Given the description of an element on the screen output the (x, y) to click on. 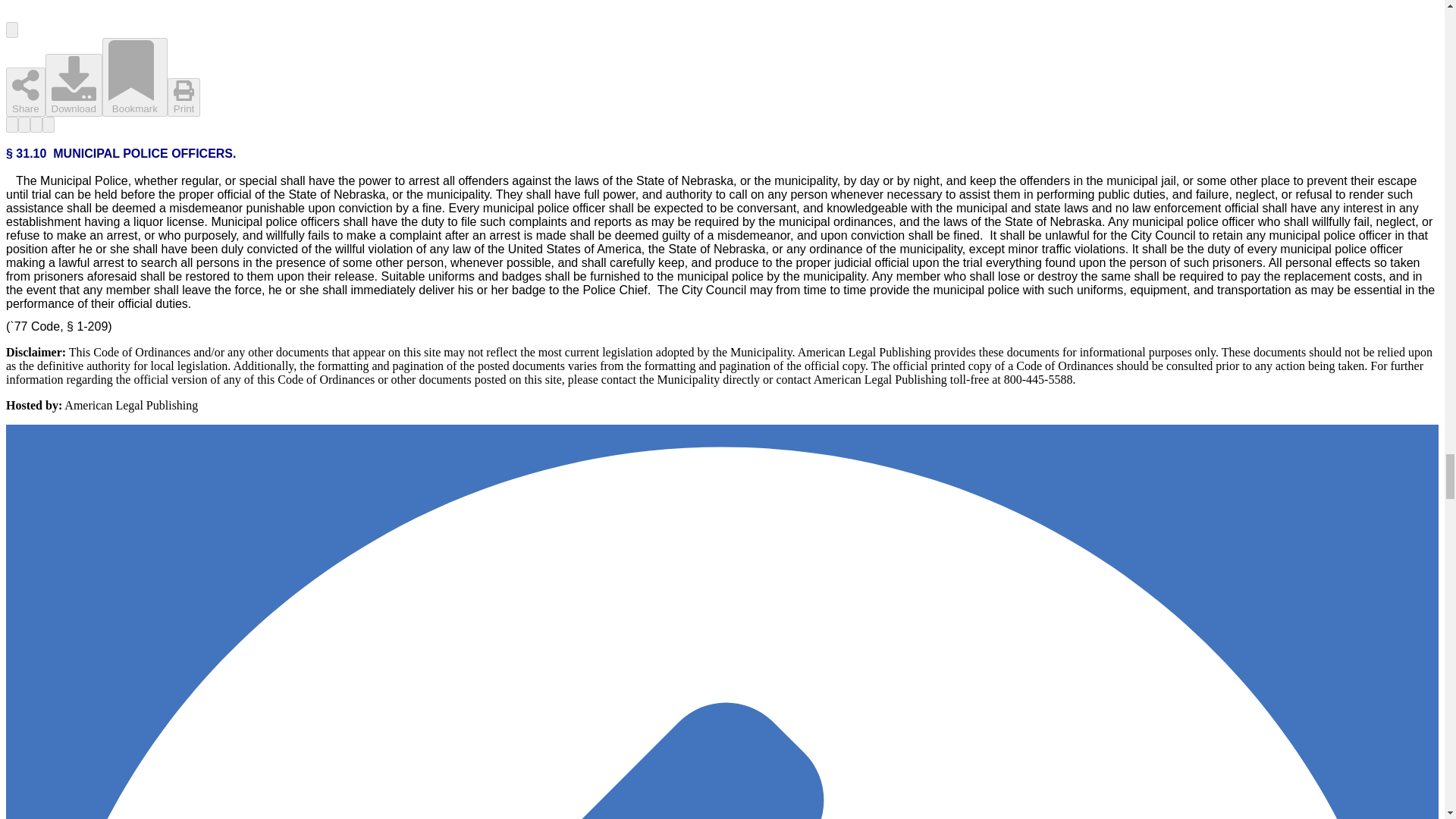
Download (73, 85)
